Given the description of an element on the screen output the (x, y) to click on. 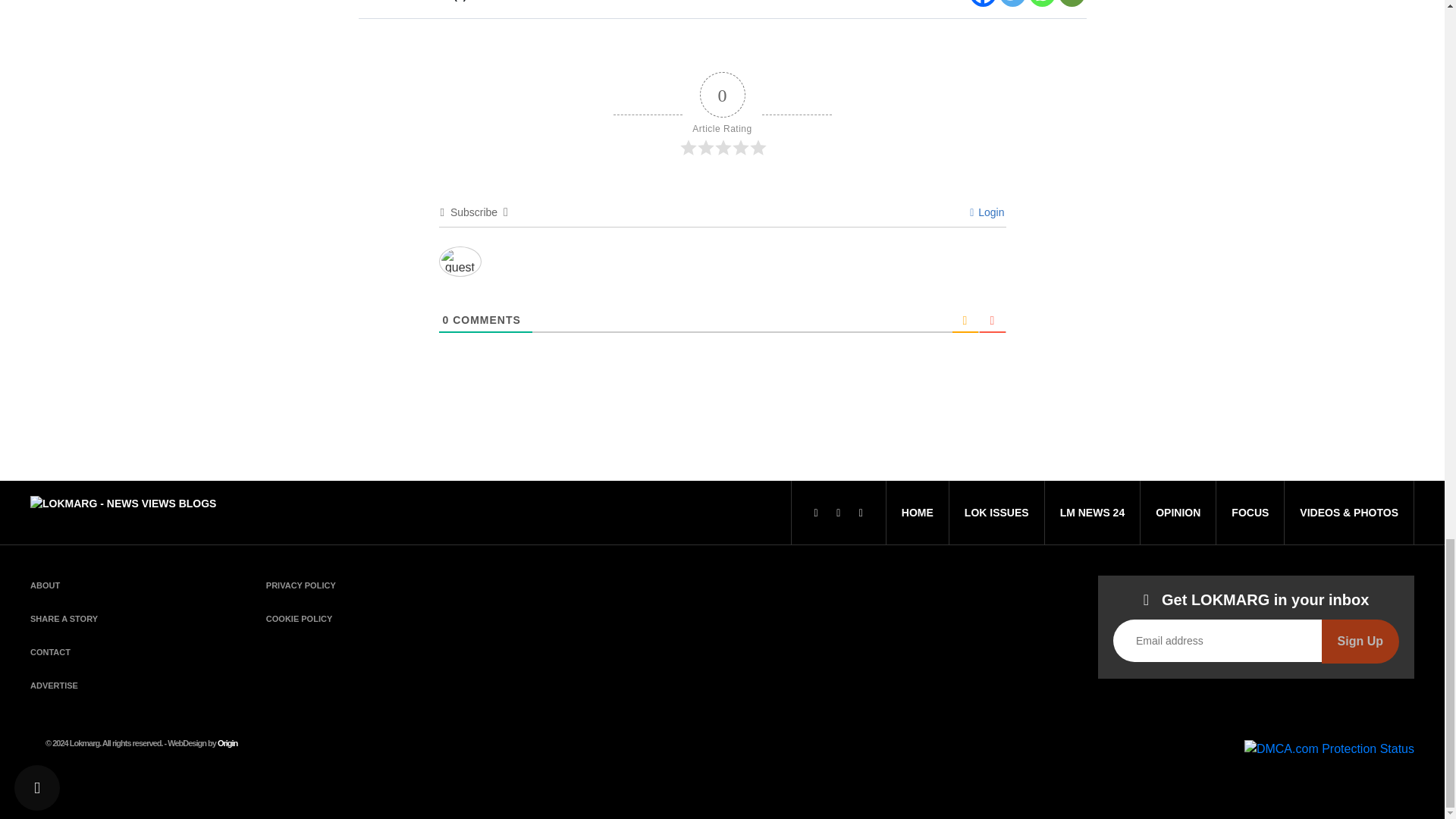
Login (986, 212)
Sign Up (1360, 641)
